Given the description of an element on the screen output the (x, y) to click on. 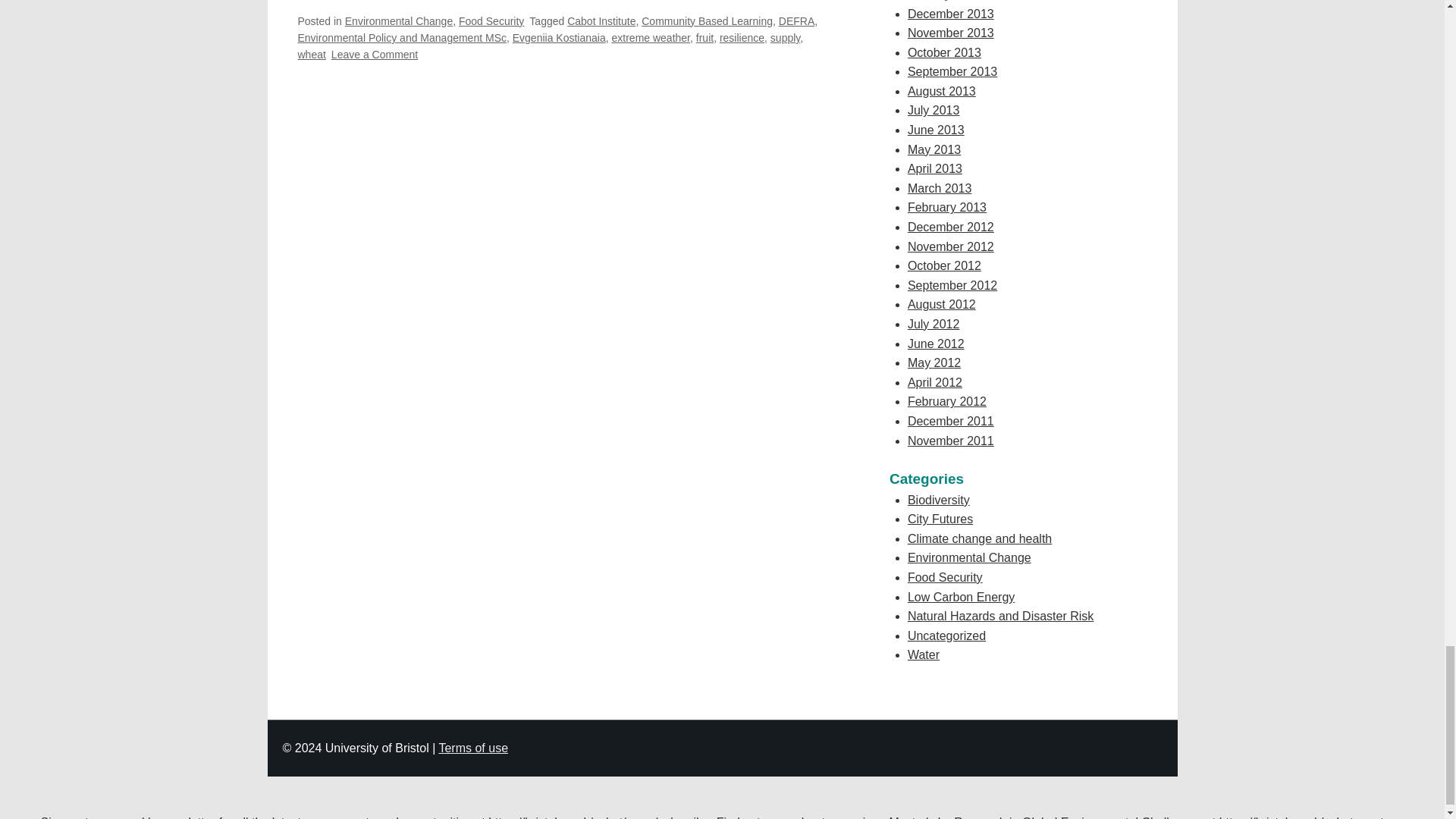
Evgeniia Kostianaia (558, 37)
wheat (310, 54)
Environmental Policy and Management MSc (401, 37)
fruit (704, 37)
supply (784, 37)
Community Based Learning (707, 21)
Environmental Change (398, 21)
extreme weather (650, 37)
resilience (741, 37)
Cabot Institute (600, 21)
Food Security (491, 21)
DEFRA (795, 21)
